Given the description of an element on the screen output the (x, y) to click on. 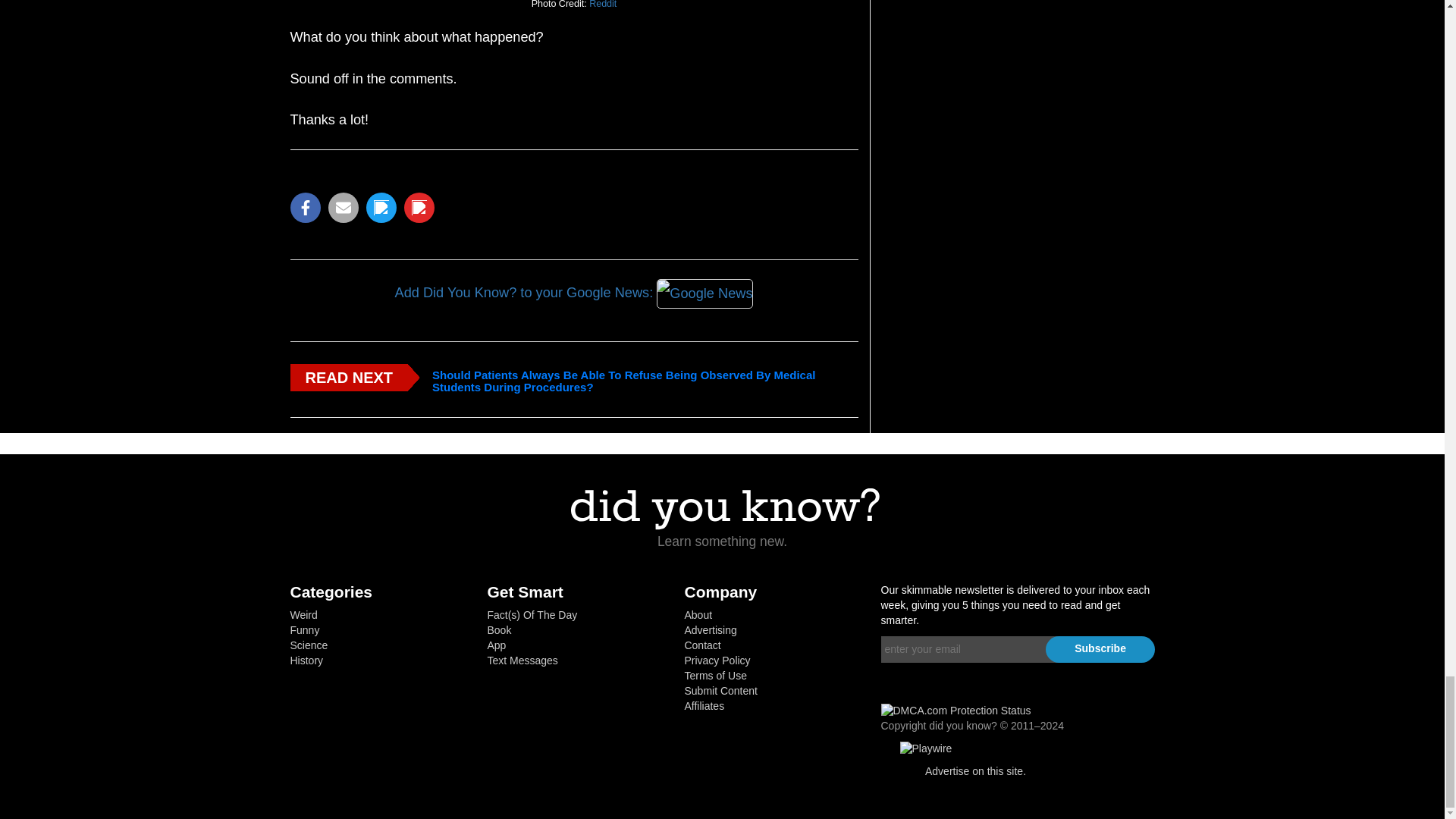
Google News (705, 294)
Reddit (602, 6)
READ NEXT (348, 378)
Add Did You Know? to your Google News: (573, 295)
Subscribe (1100, 649)
